Given the description of an element on the screen output the (x, y) to click on. 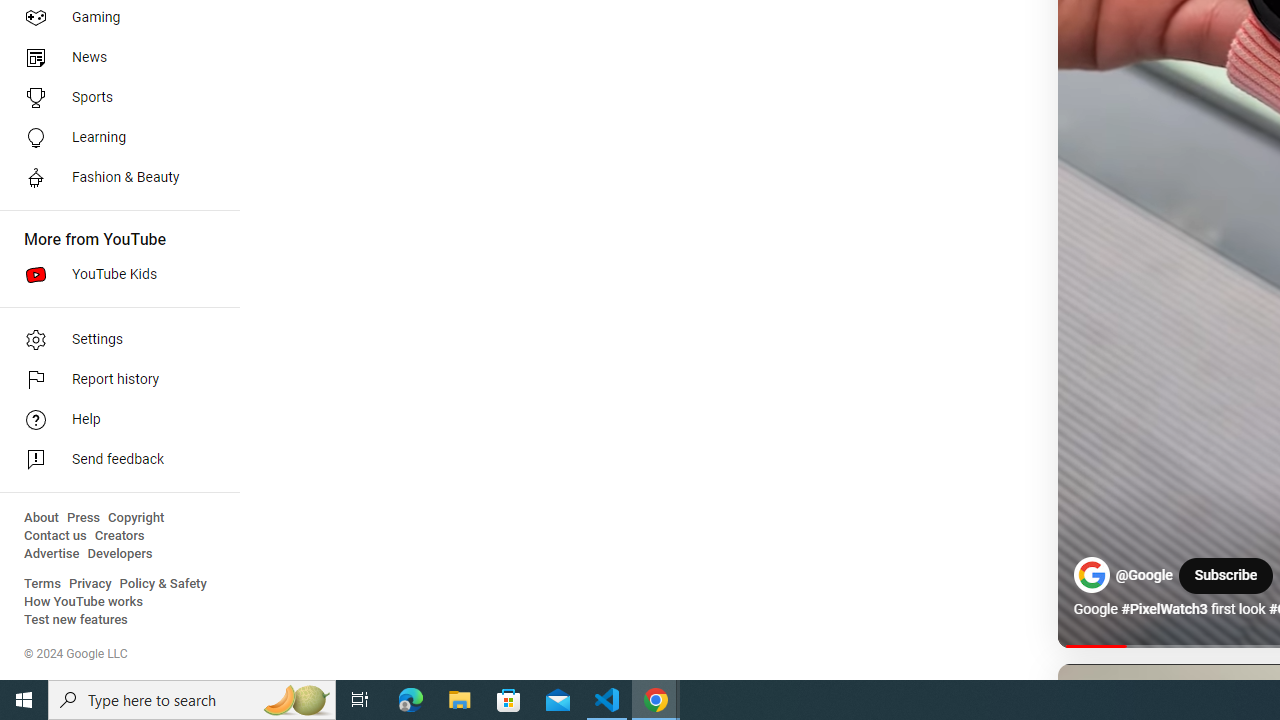
YouTube Kids (113, 274)
Sports (113, 97)
Test new features (76, 620)
Creators (118, 536)
Fashion & Beauty (113, 177)
News (113, 57)
